Given the description of an element on the screen output the (x, y) to click on. 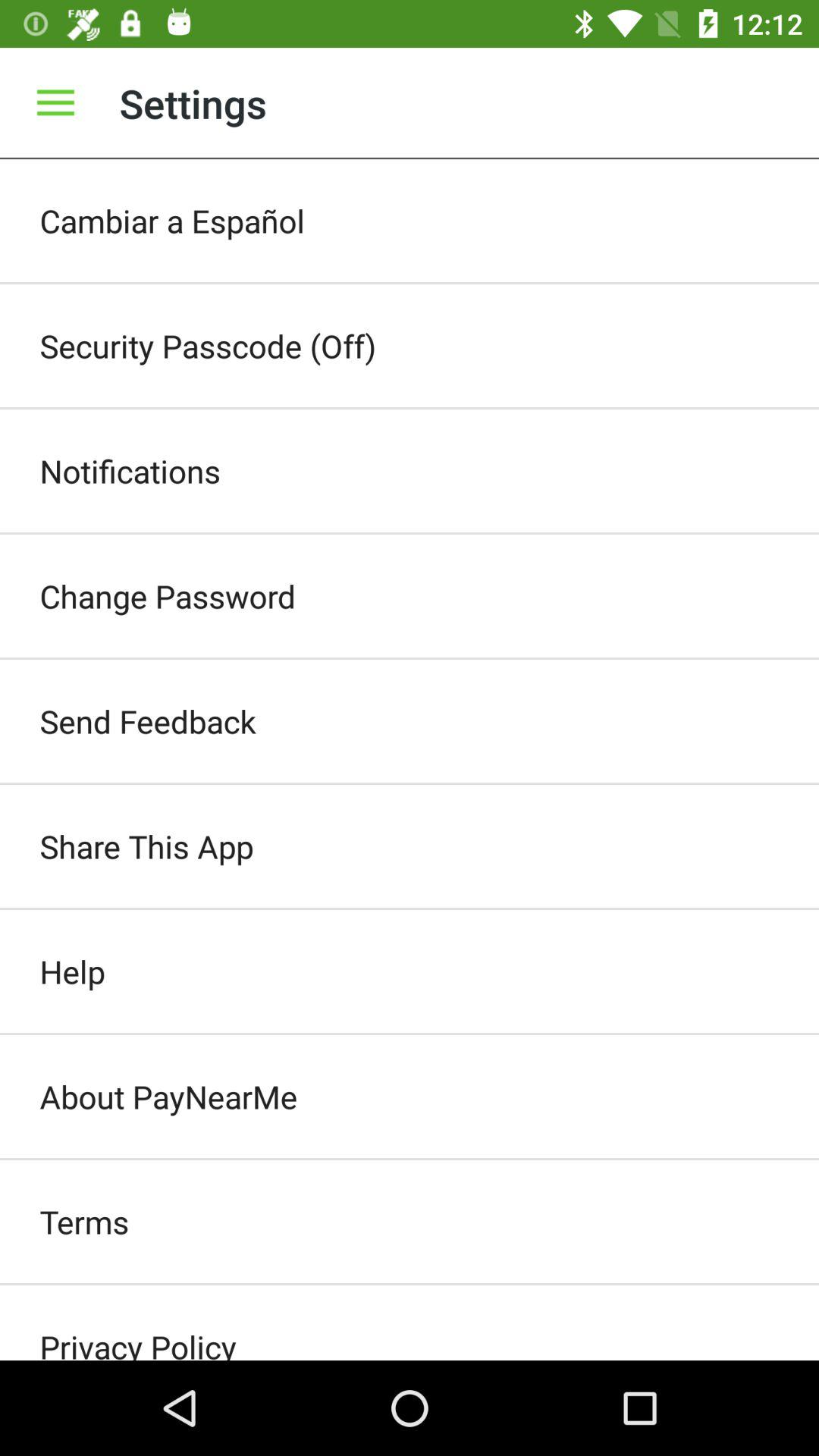
click the icon above the notifications (409, 345)
